Given the description of an element on the screen output the (x, y) to click on. 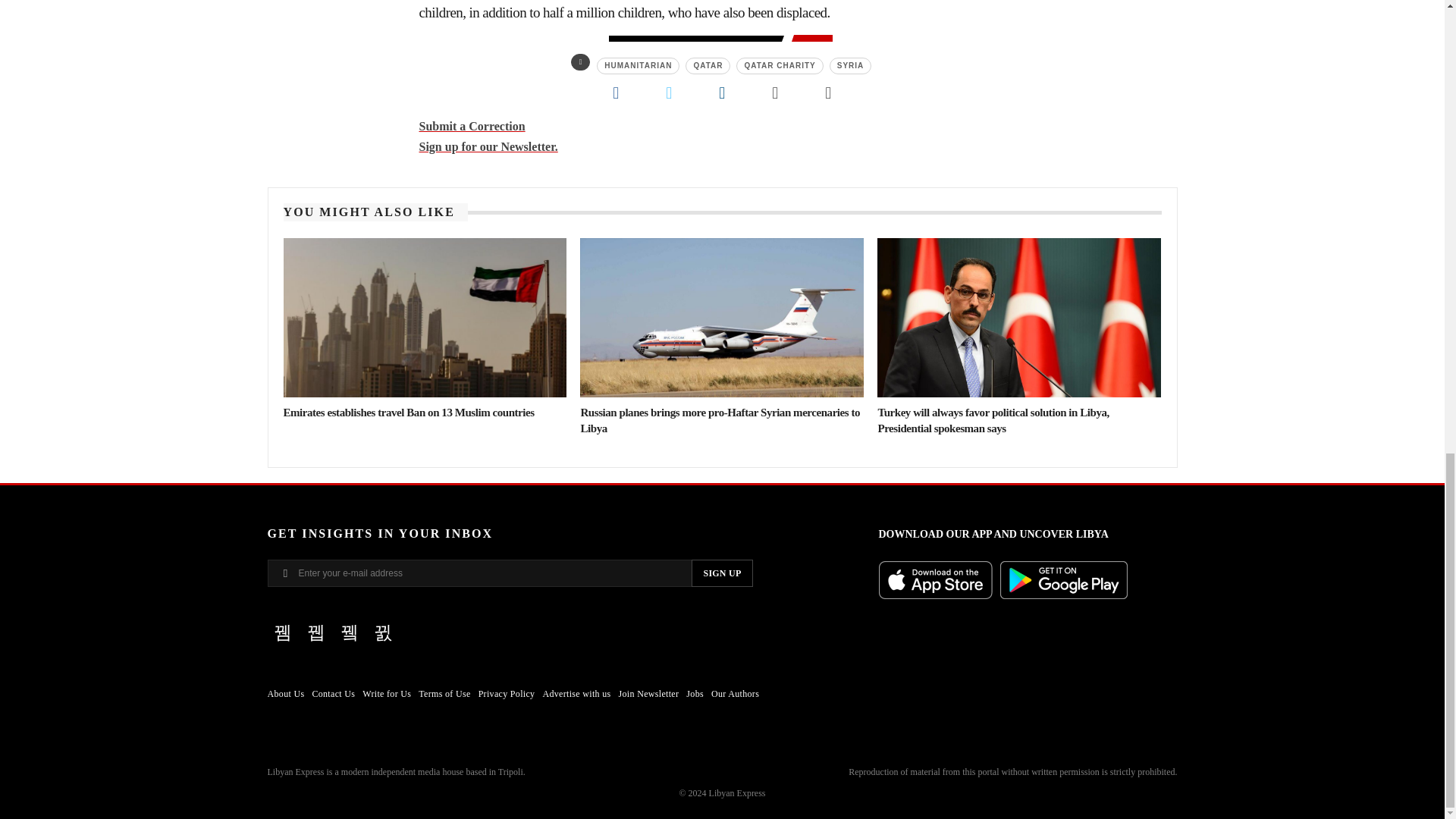
HUMANITARIAN (637, 65)
Sign Up (721, 573)
QATAR (707, 65)
QATAR CHARITY (779, 65)
